Given the description of an element on the screen output the (x, y) to click on. 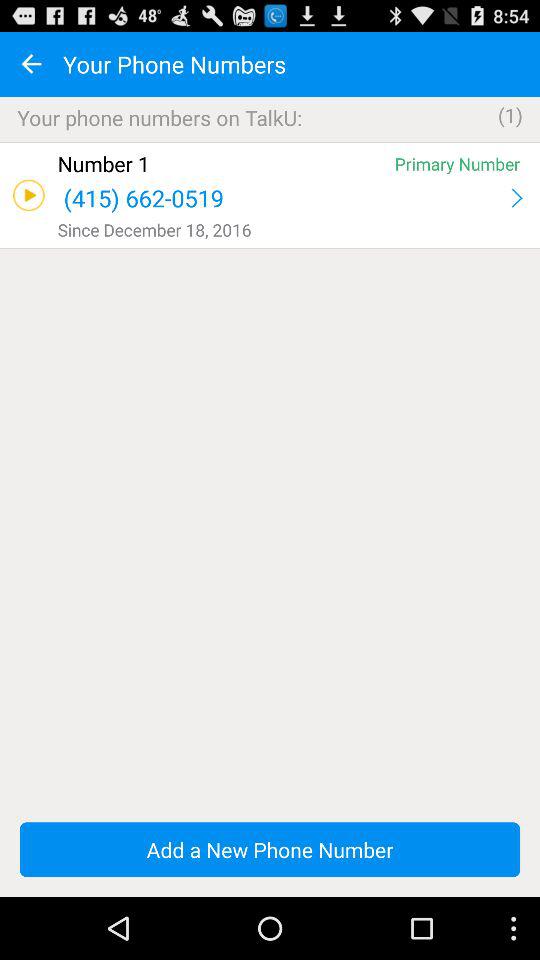
tap the item below your phone numbers item (270, 142)
